Given the description of an element on the screen output the (x, y) to click on. 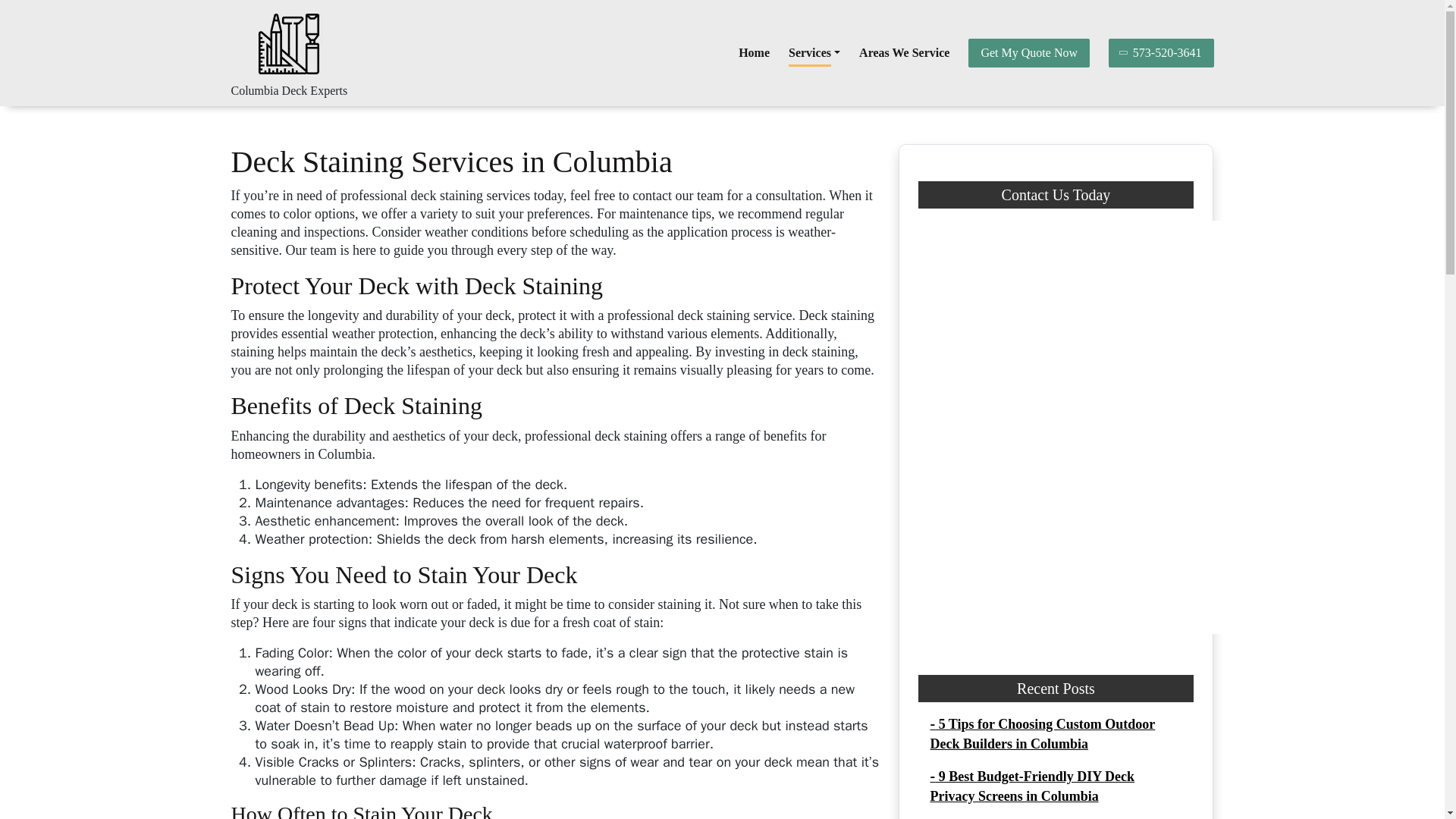
Areas We Service (904, 52)
Columbia Deck Experts (288, 90)
Services (814, 52)
Home (754, 52)
Home (754, 52)
573-520-3641 (1161, 52)
Get My Quote Now (1028, 52)
Areas We Service (904, 52)
Services (814, 52)
